Given the description of an element on the screen output the (x, y) to click on. 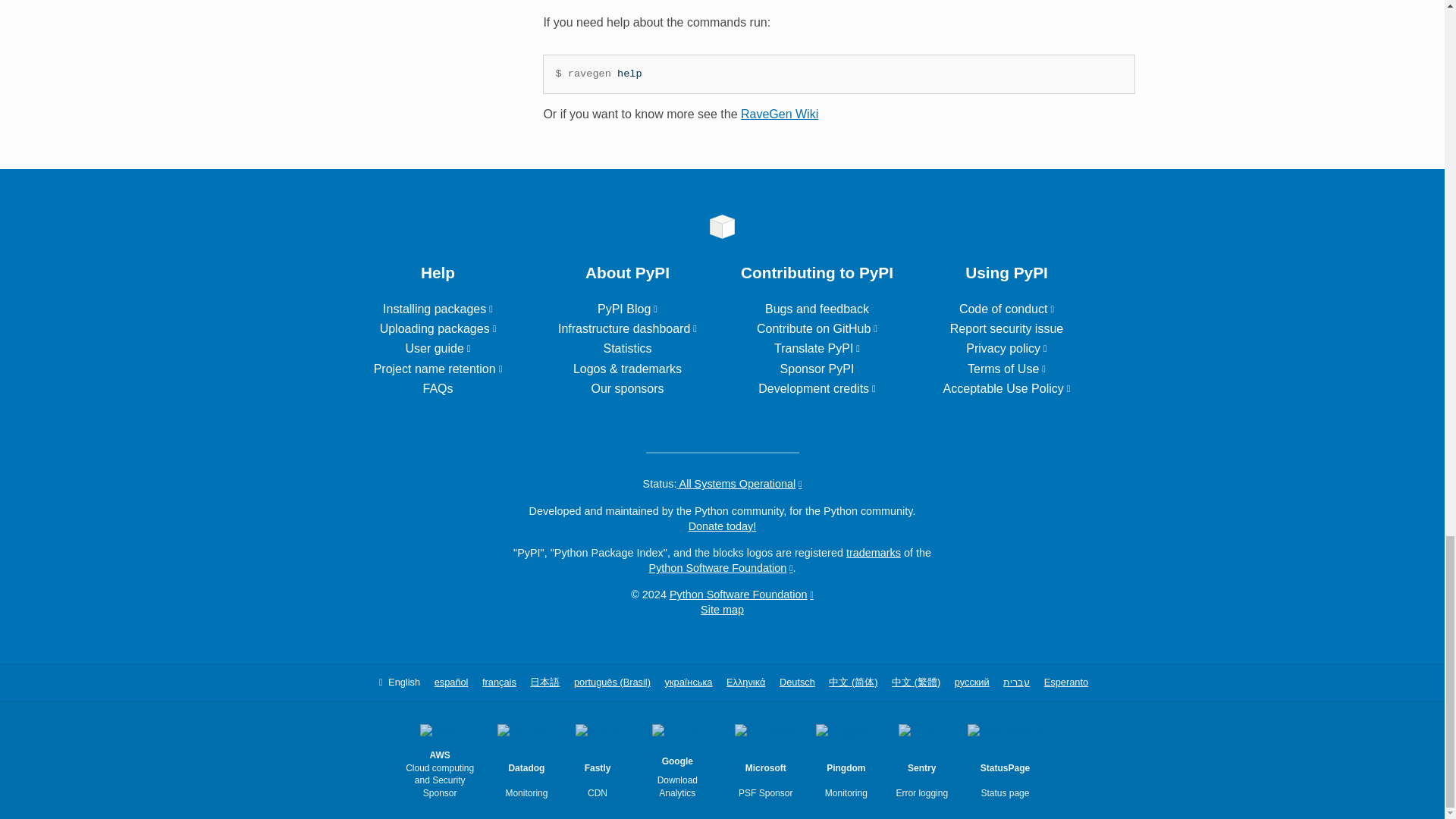
External link (438, 328)
External link (437, 308)
